Given the description of an element on the screen output the (x, y) to click on. 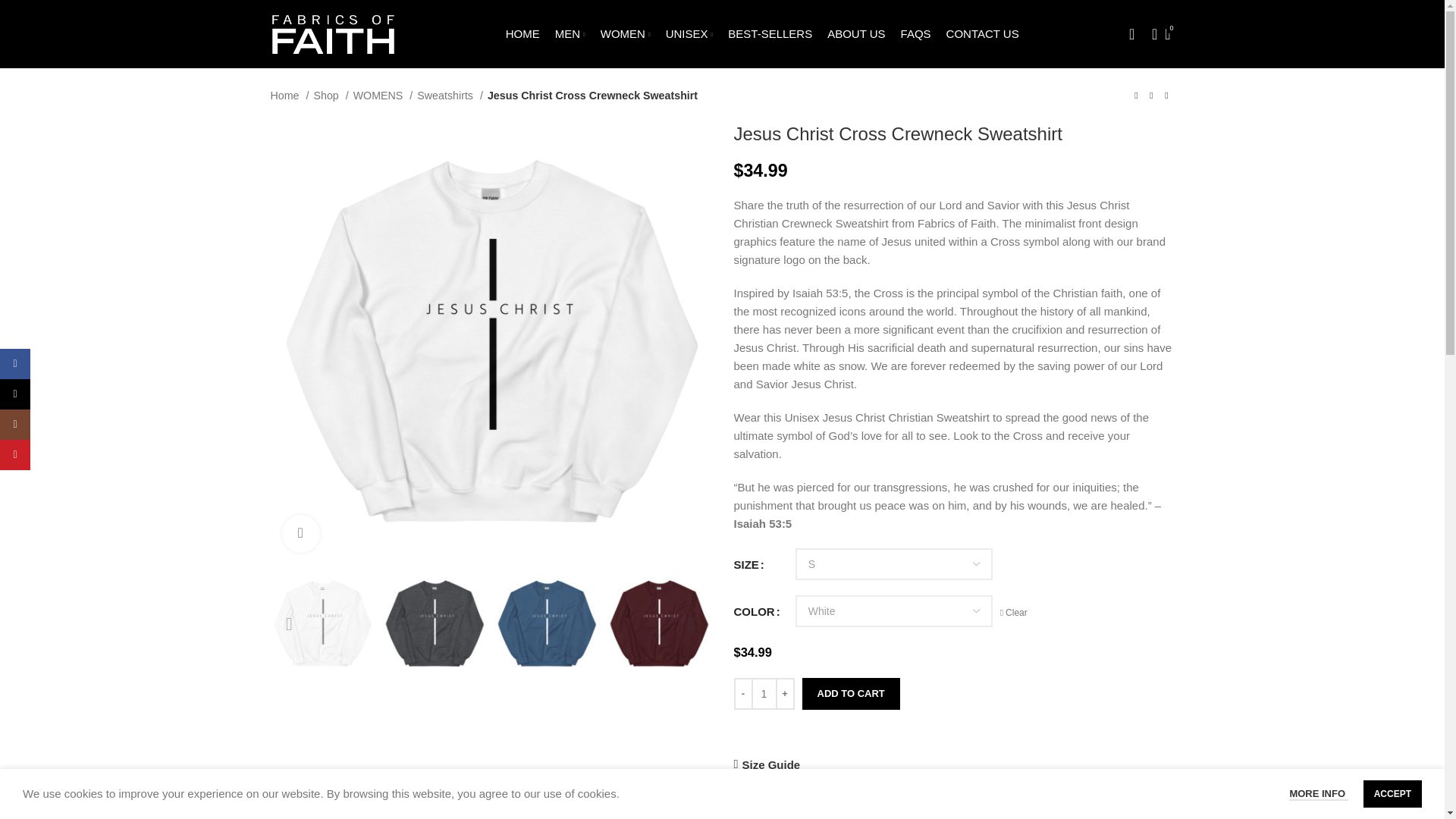
BEST-SELLERS (770, 33)
HOME (522, 33)
1 (763, 694)
0 (1167, 33)
WOMEN (624, 33)
FAQS (916, 33)
Shopping cart (1167, 33)
- (742, 694)
CONTACT US (982, 33)
MEN (569, 33)
Search (1149, 33)
My account (1131, 33)
UNISEX (689, 33)
